Given the description of an element on the screen output the (x, y) to click on. 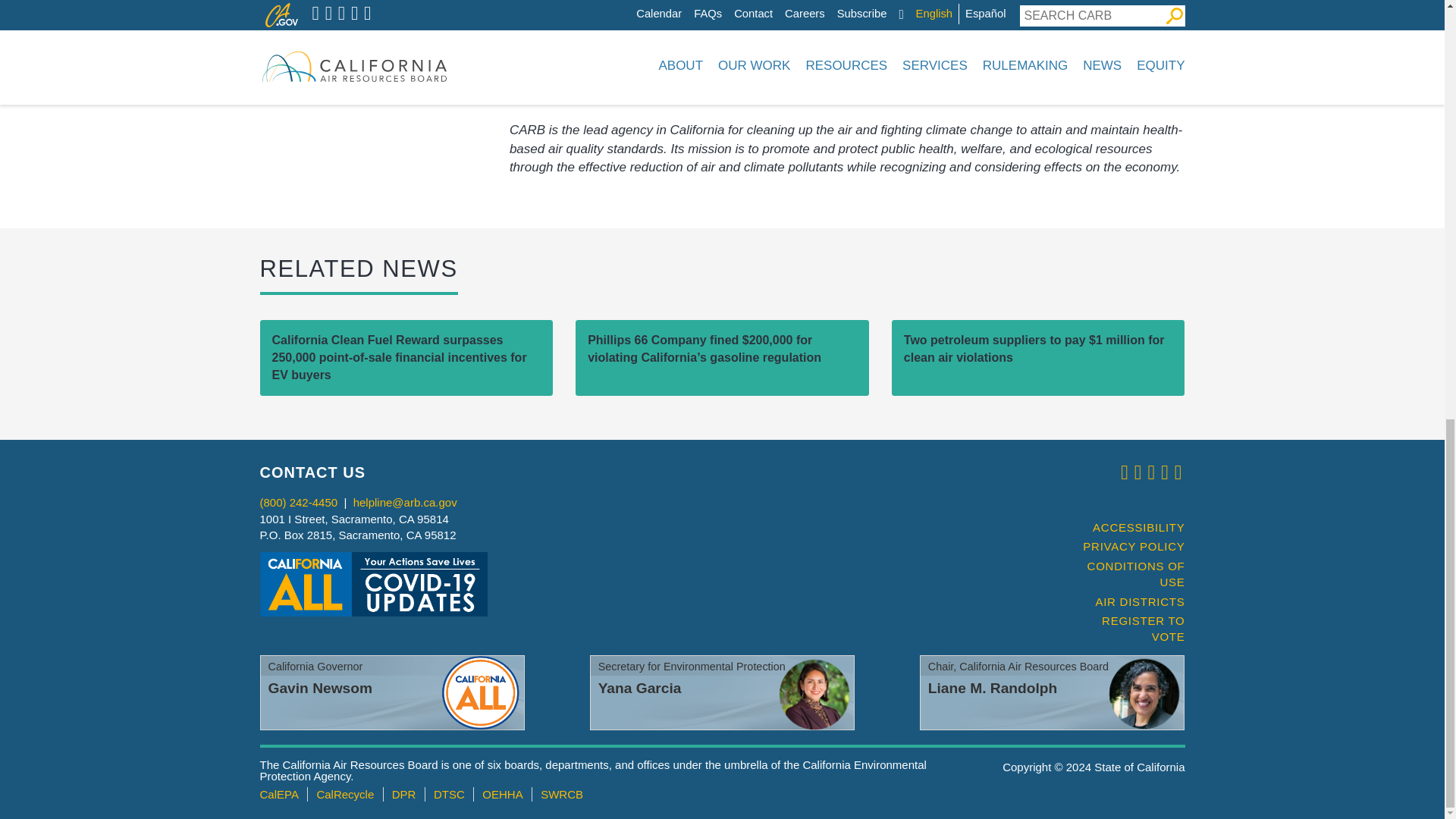
California Environmental Protection Agency (278, 794)
California online voter registration (1127, 628)
